Given the description of an element on the screen output the (x, y) to click on. 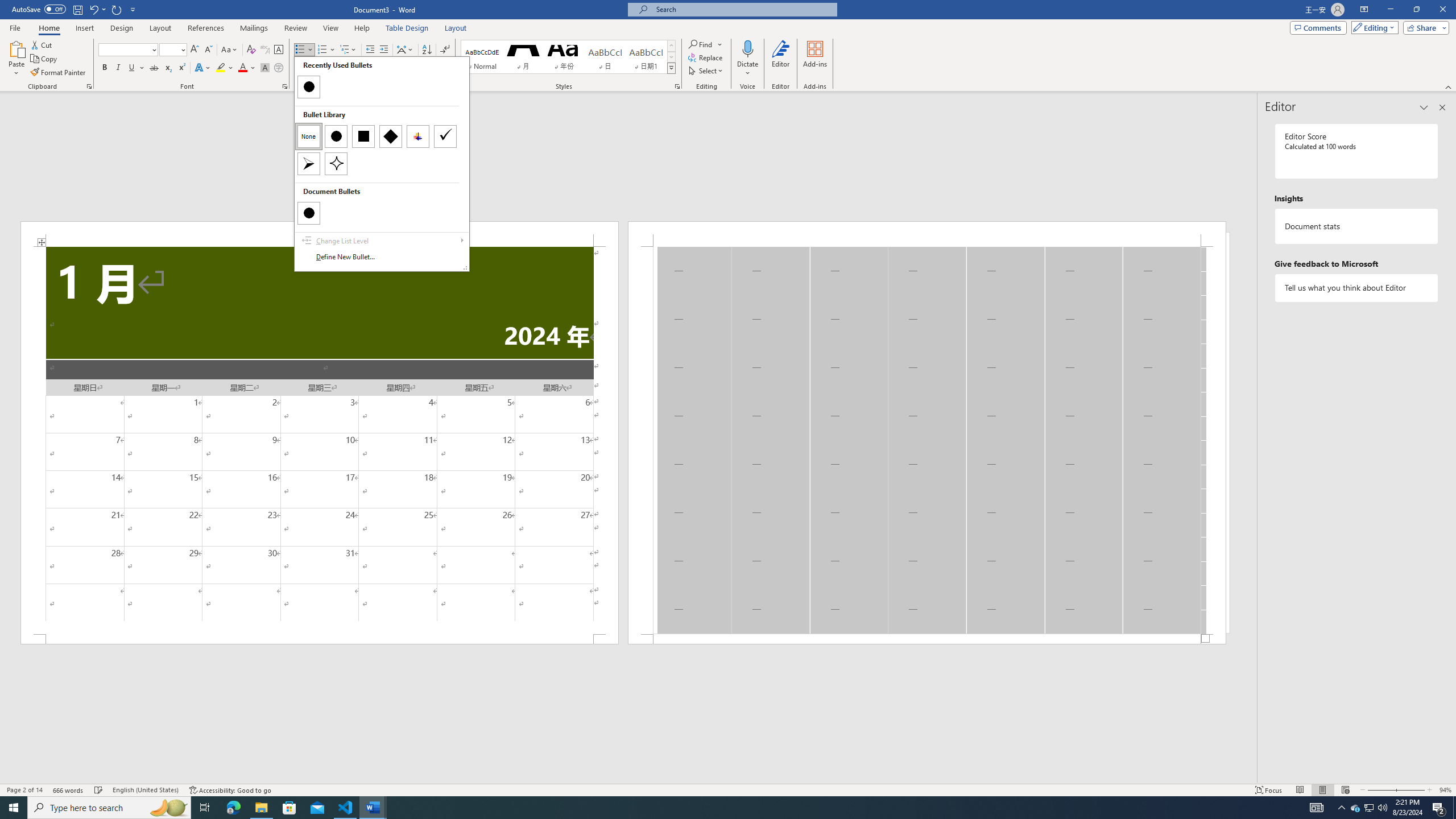
Design (122, 28)
Multilevel List (347, 49)
Q2790: 100% (1382, 807)
Underline (136, 67)
Class: NetUIImage (671, 68)
Change Case (229, 49)
Class: MsoCommandBar (728, 789)
Task Pane Options (1423, 107)
Print Layout (1322, 790)
View (330, 28)
Font Color (246, 67)
Type here to search (108, 807)
System (6, 6)
